Given the description of an element on the screen output the (x, y) to click on. 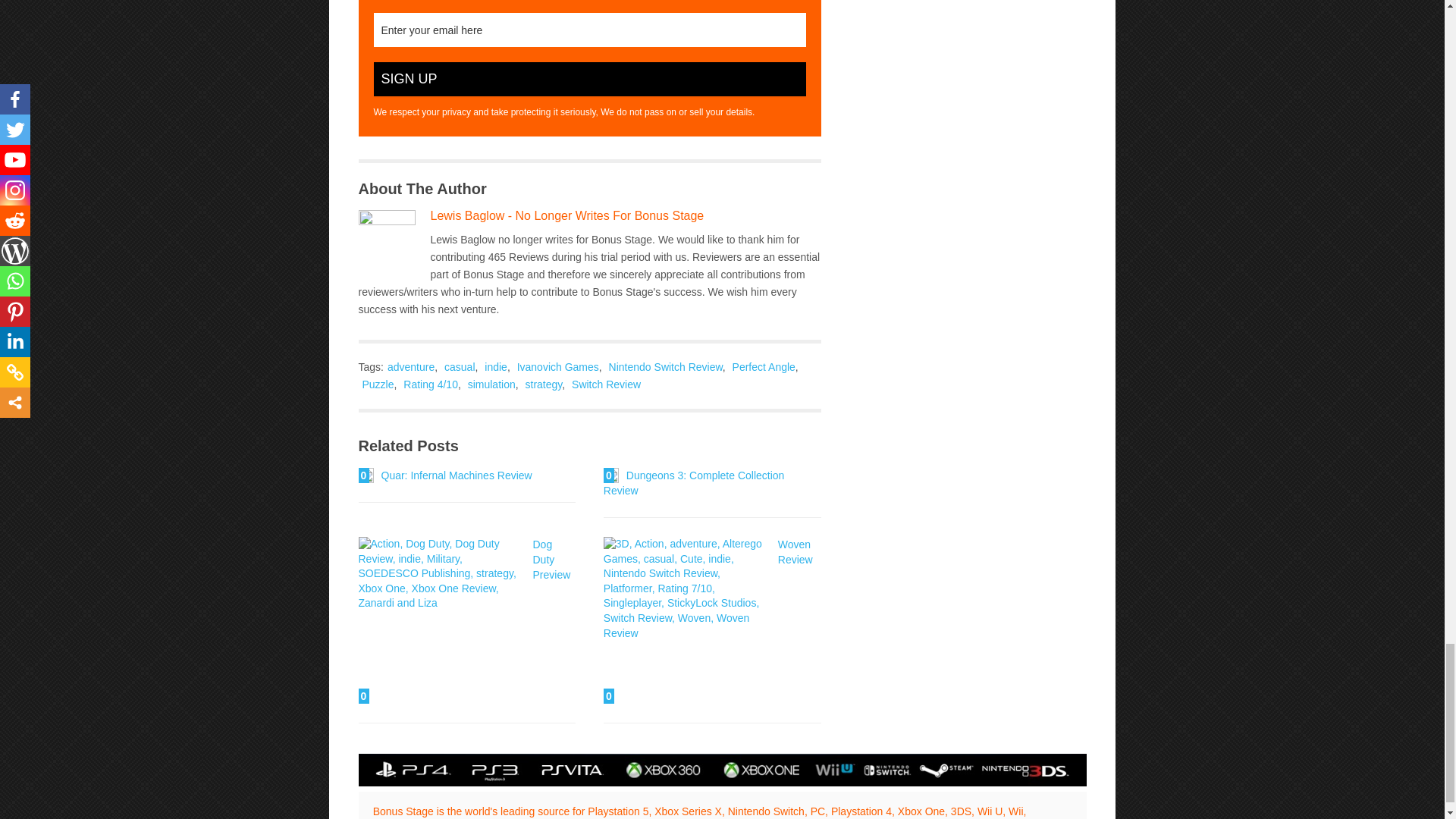
Sign Up (588, 79)
